Given the description of an element on the screen output the (x, y) to click on. 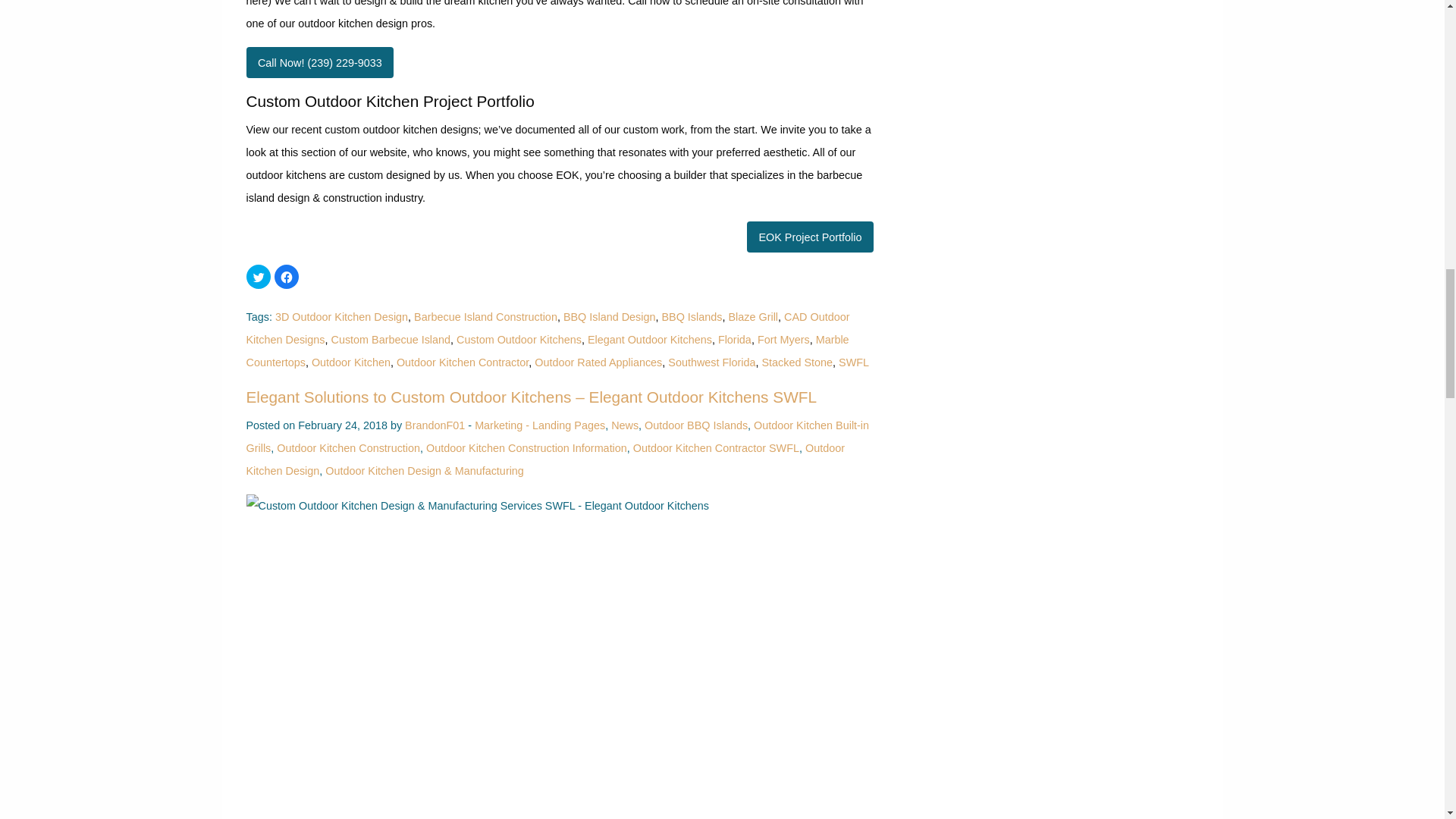
Click to share on Facebook (286, 276)
Click to share on Twitter (257, 276)
